Given the description of an element on the screen output the (x, y) to click on. 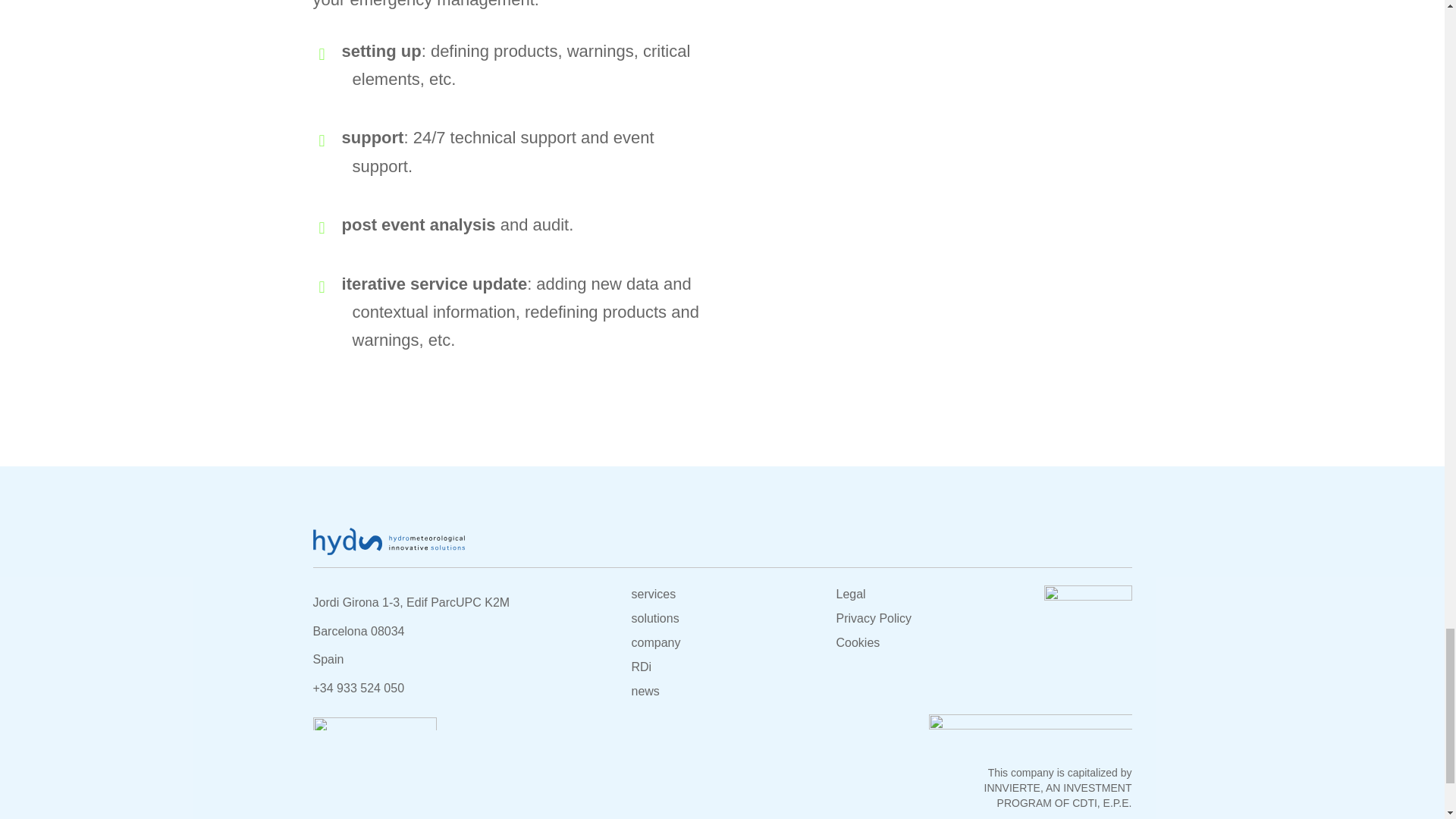
Legal (849, 594)
RDi (640, 666)
Cookies (857, 642)
solutions (654, 617)
news (644, 690)
services (652, 594)
Innovative SME (1087, 594)
company (654, 642)
Privacy Policy (873, 617)
